Given the description of an element on the screen output the (x, y) to click on. 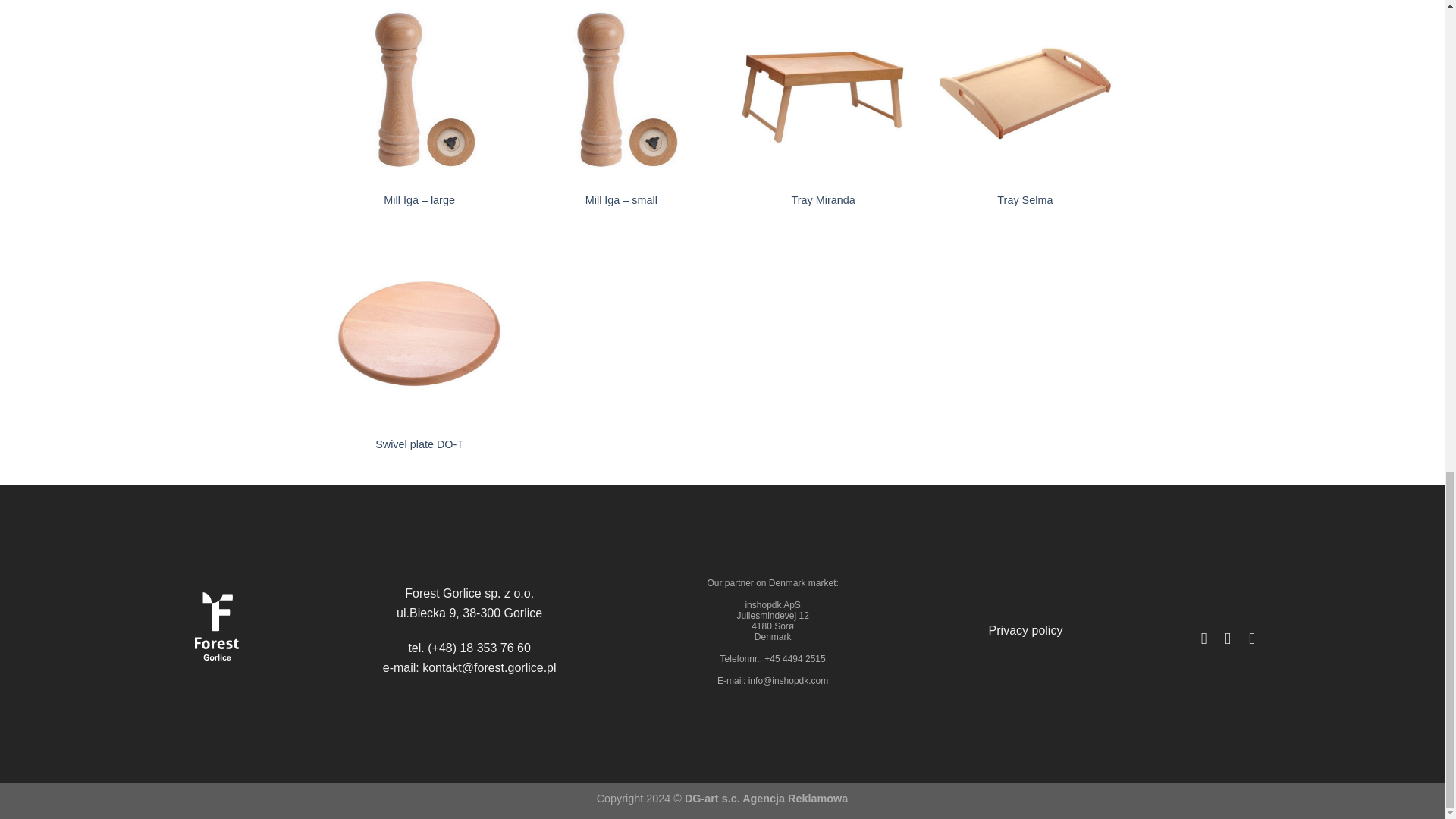
Follow on LinkedIn (1251, 638)
Follow on Facebook (1203, 638)
Follow on Instagram (1228, 638)
